Given the description of an element on the screen output the (x, y) to click on. 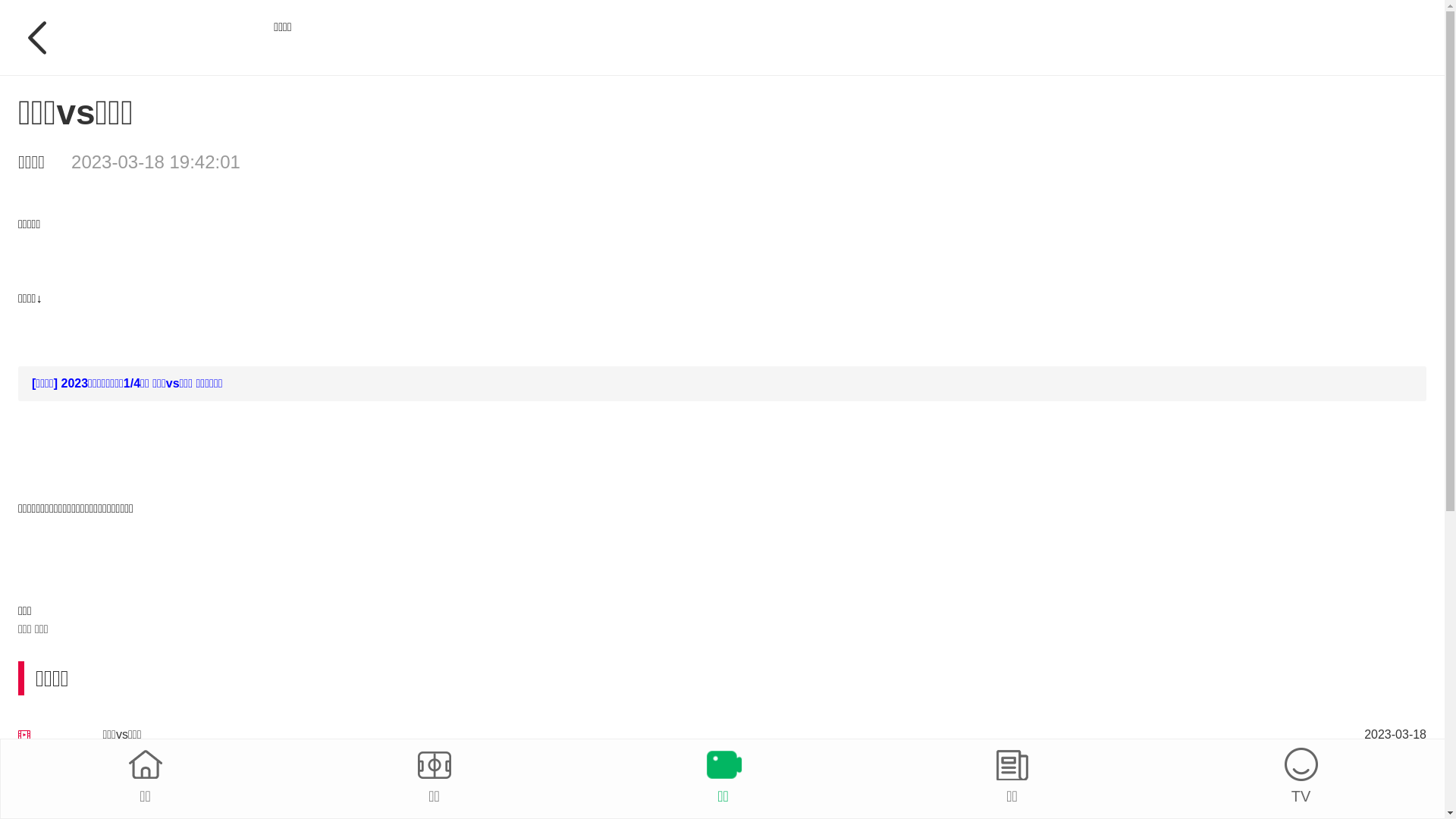
TV Element type: text (1300, 776)
